Given the description of an element on the screen output the (x, y) to click on. 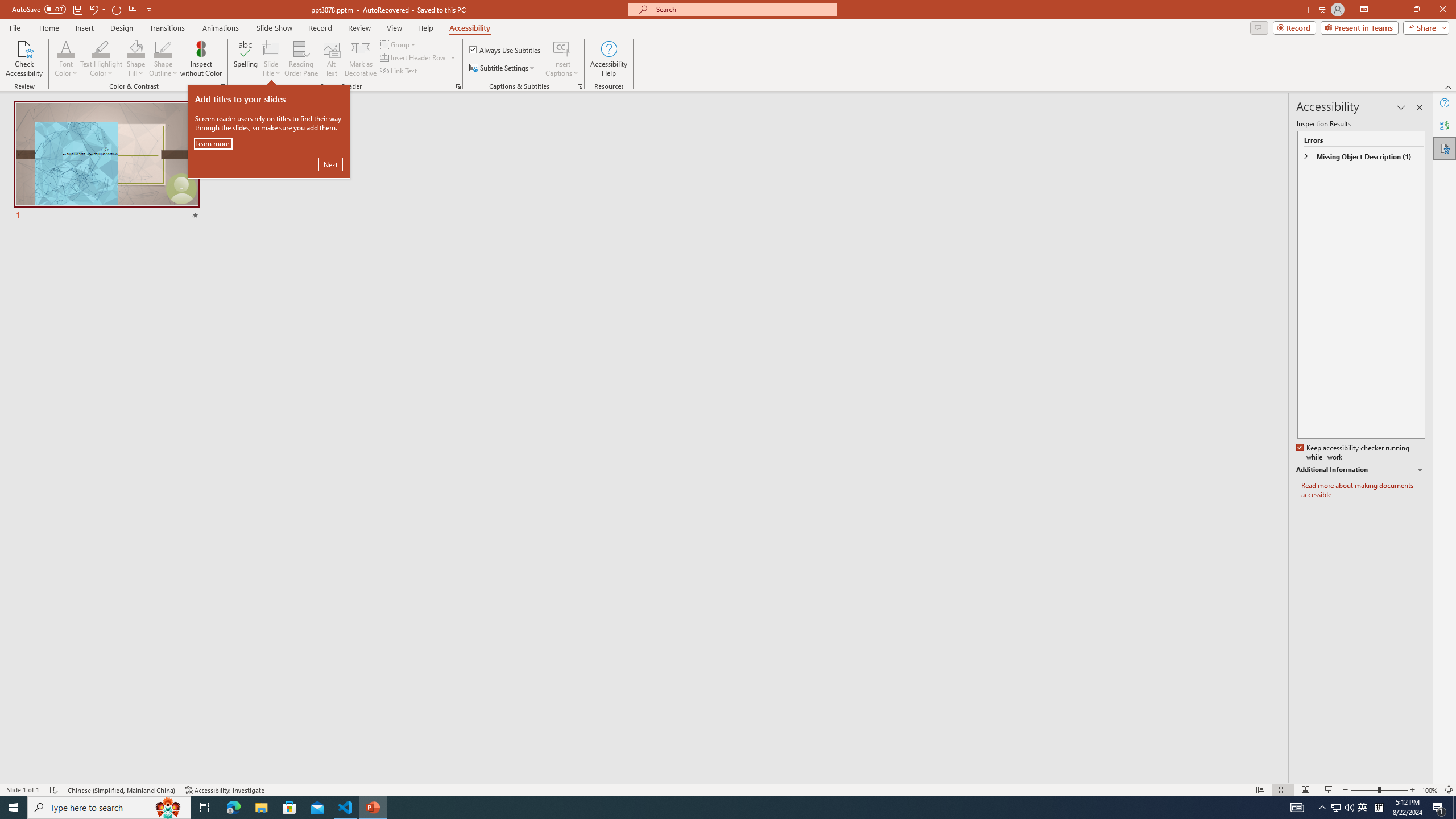
Insert Header Row (418, 56)
Inspect without Color (201, 58)
Slide Title (271, 48)
